Given the description of an element on the screen output the (x, y) to click on. 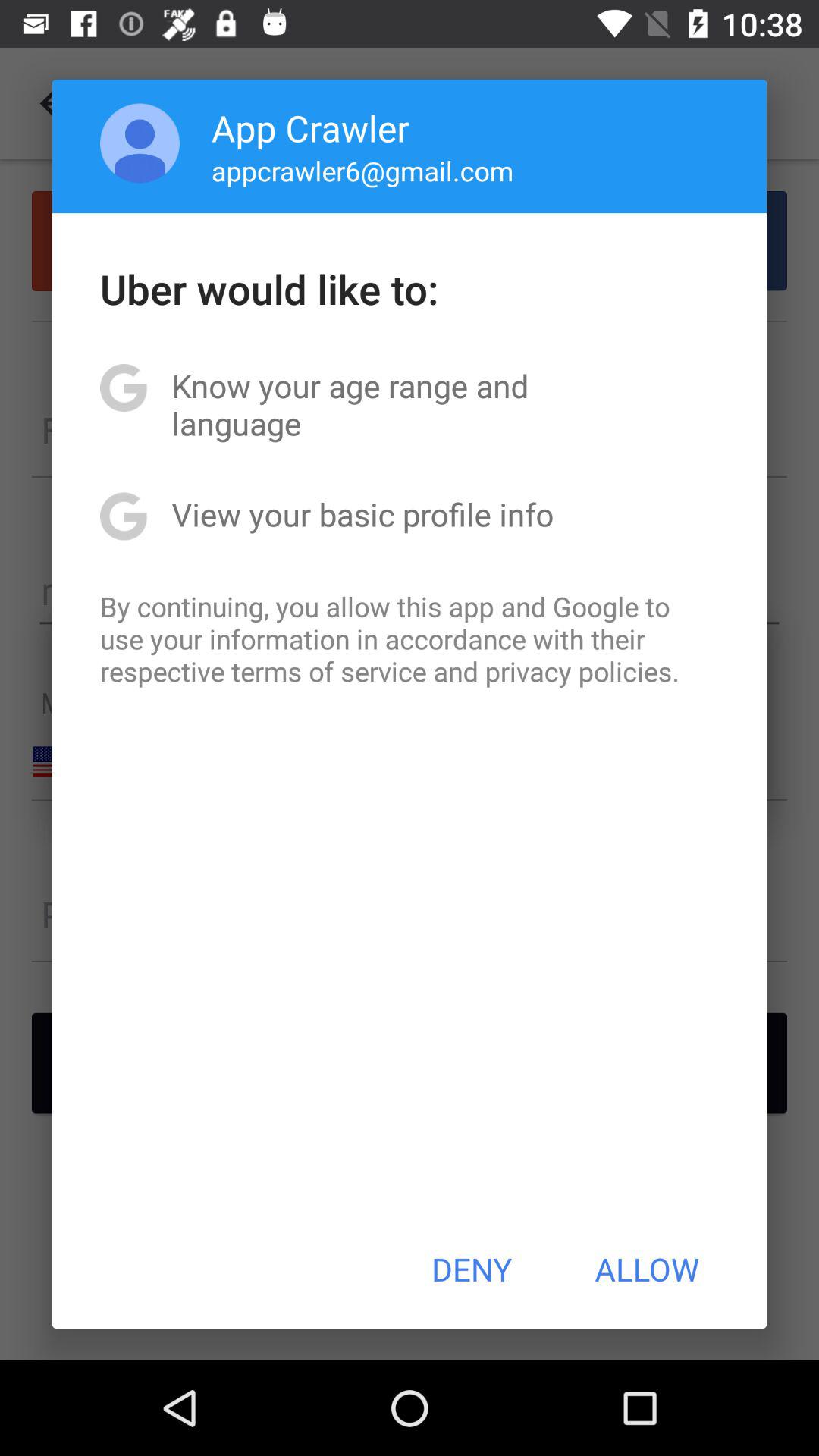
turn on the view your basic icon (362, 513)
